Given the description of an element on the screen output the (x, y) to click on. 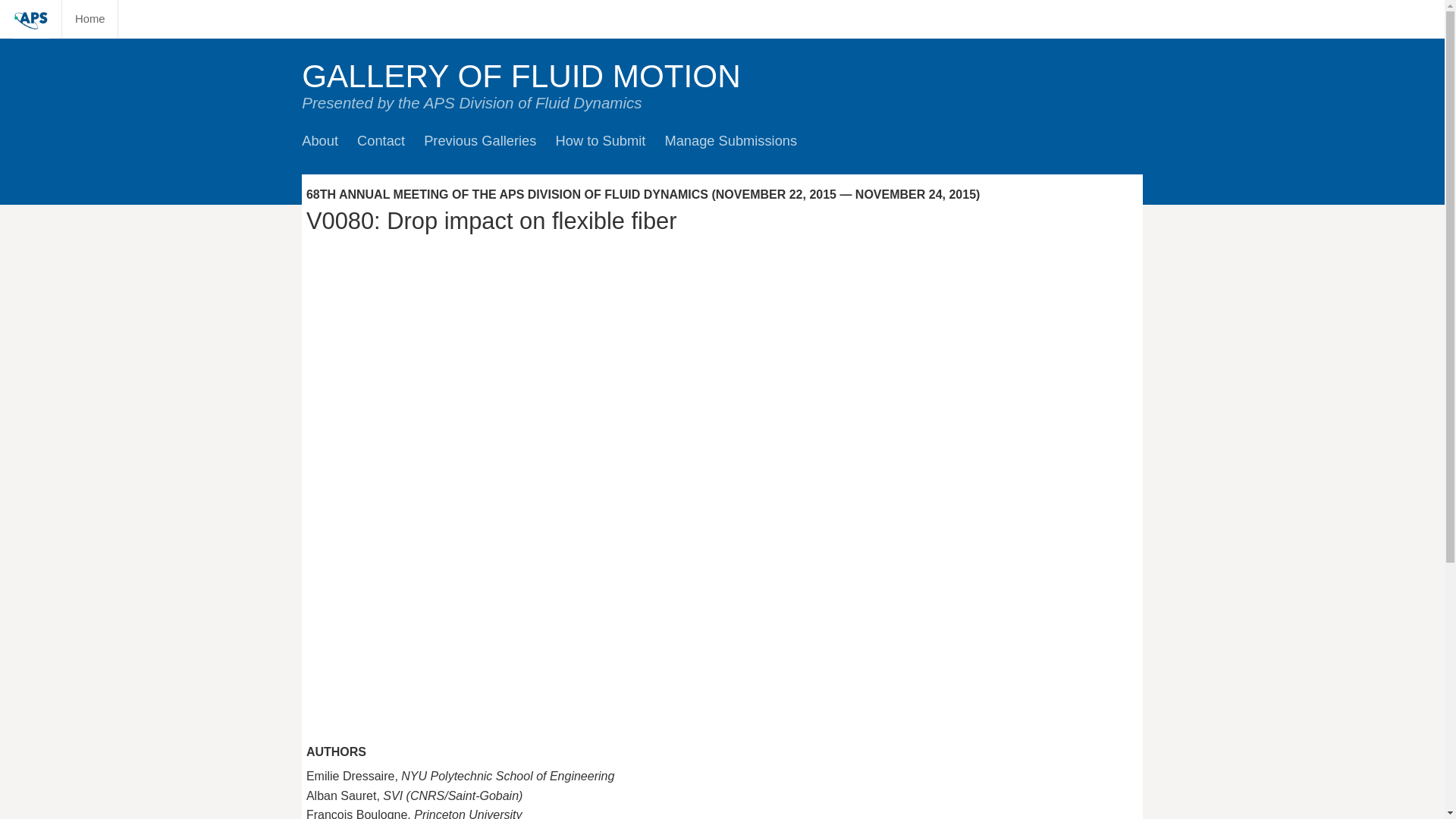
Manage Submissions (729, 140)
About (319, 140)
How to Submit (601, 140)
Previous Galleries (479, 140)
Home (89, 18)
GALLERY OF FLUID MOTION (521, 76)
Contact (380, 140)
